Given the description of an element on the screen output the (x, y) to click on. 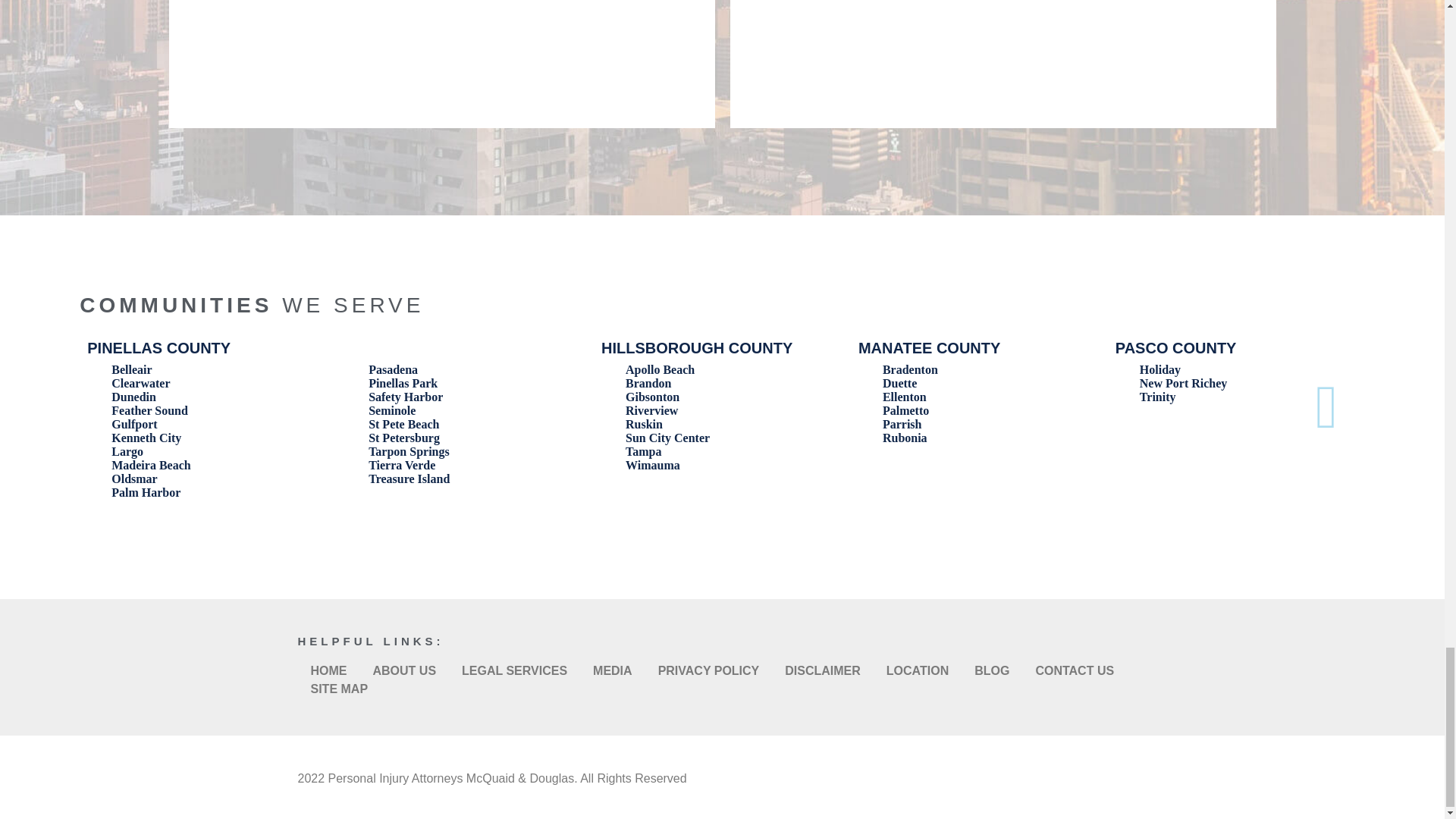
Largo (127, 451)
Gulfport (134, 423)
Palm Harbor (146, 492)
Pinellas Park (403, 382)
Oldsmar (134, 478)
Dunedin (133, 396)
Pasadena (392, 369)
Madeira Beach (151, 464)
Clearwater (141, 382)
Belleair (131, 369)
Safety Harbor (405, 396)
PINELLAS COUNTY (158, 347)
Kenneth City (146, 437)
Feather Sound (149, 410)
